Given the description of an element on the screen output the (x, y) to click on. 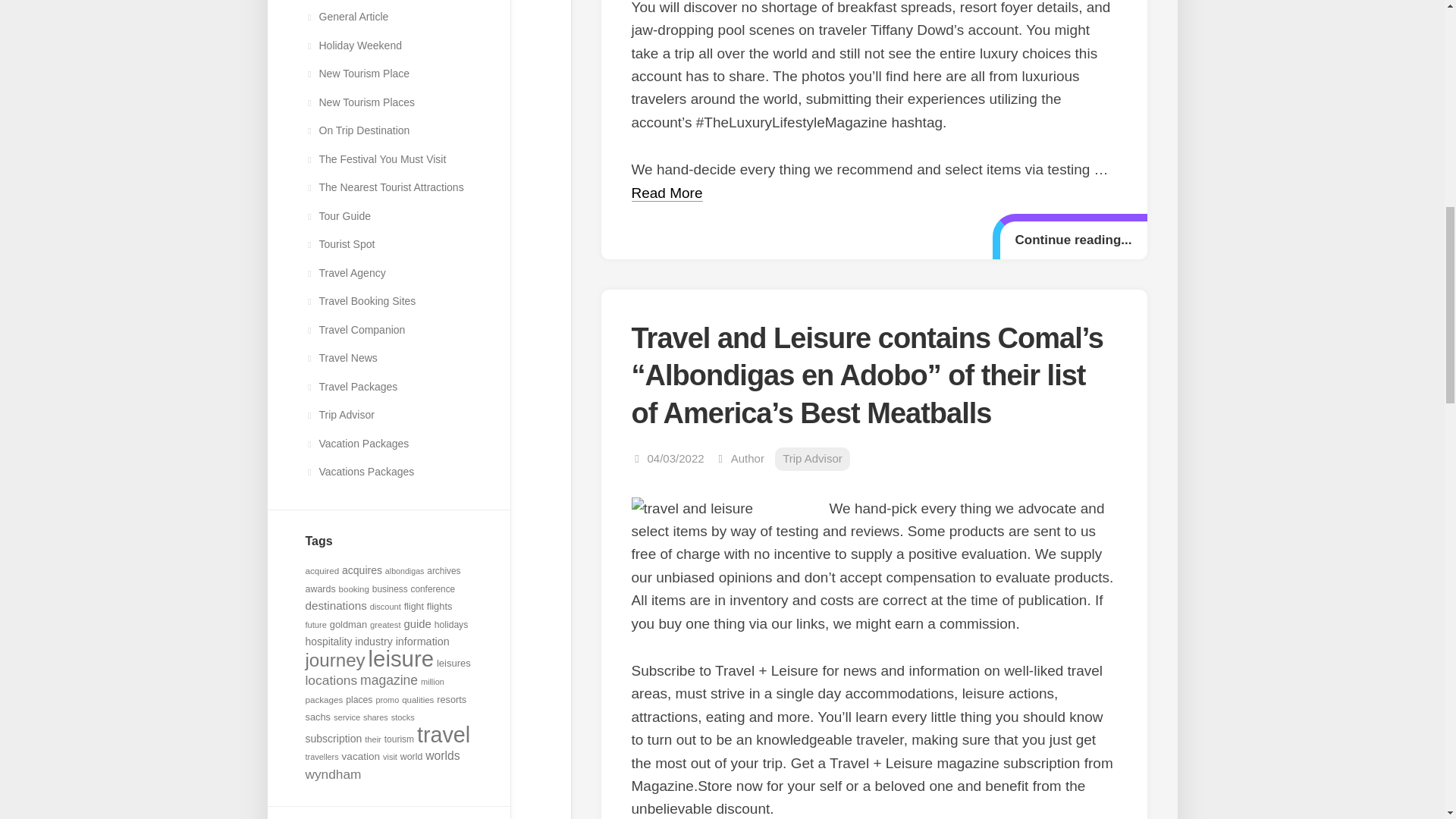
Posts by Author (747, 458)
